Given the description of an element on the screen output the (x, y) to click on. 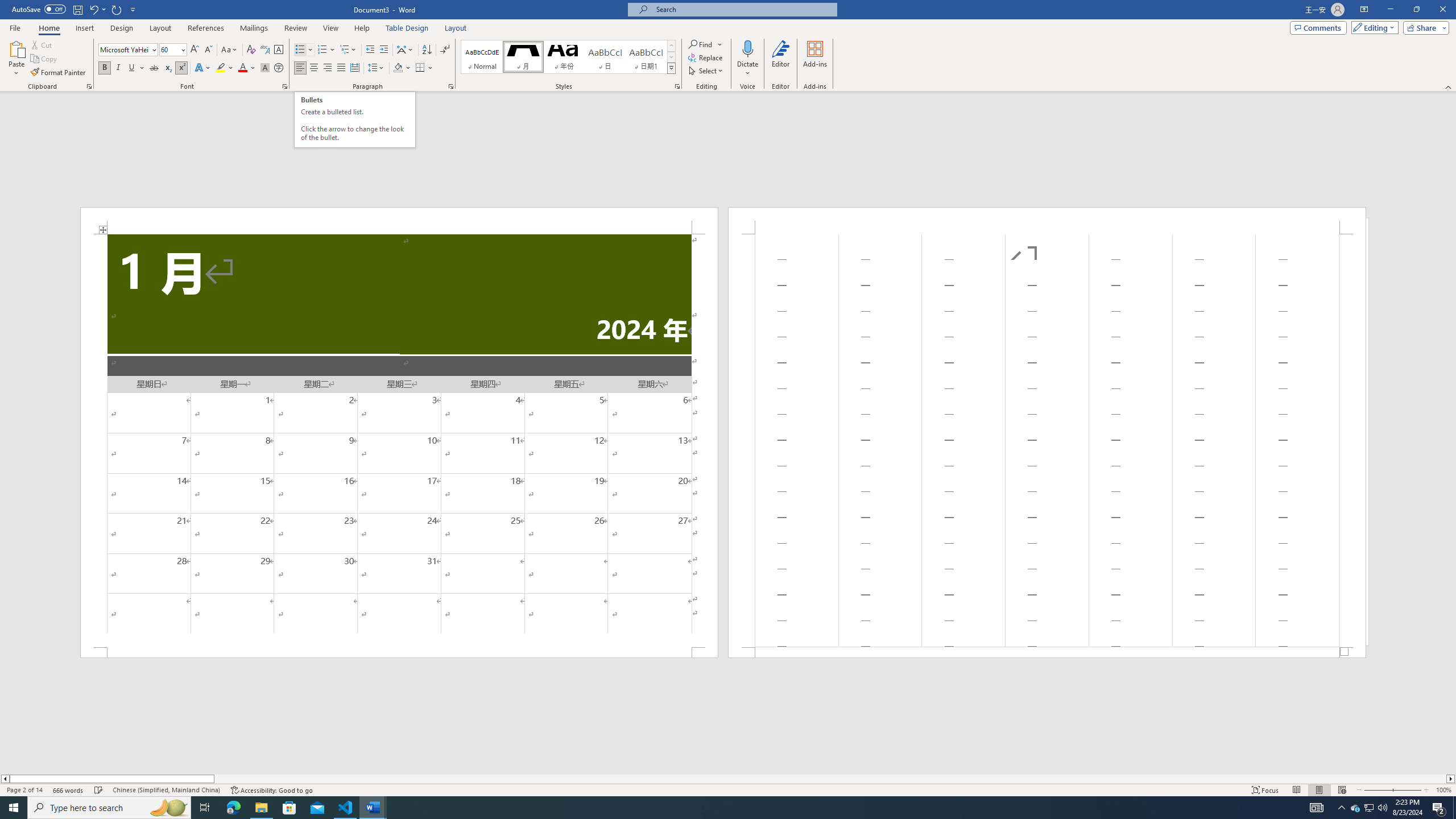
Font Color RGB(255, 0, 0) (241, 67)
Asian Layout (405, 49)
Office Clipboard... (88, 85)
Select (705, 69)
Grow Font (193, 49)
File Tab (15, 27)
Footer -Section 1- (1046, 652)
Close (1442, 9)
Undo Superscript (92, 9)
Align Left (300, 67)
Focus  (1265, 790)
More Options (747, 68)
Format Painter (58, 72)
Review (295, 28)
